Given the description of an element on the screen output the (x, y) to click on. 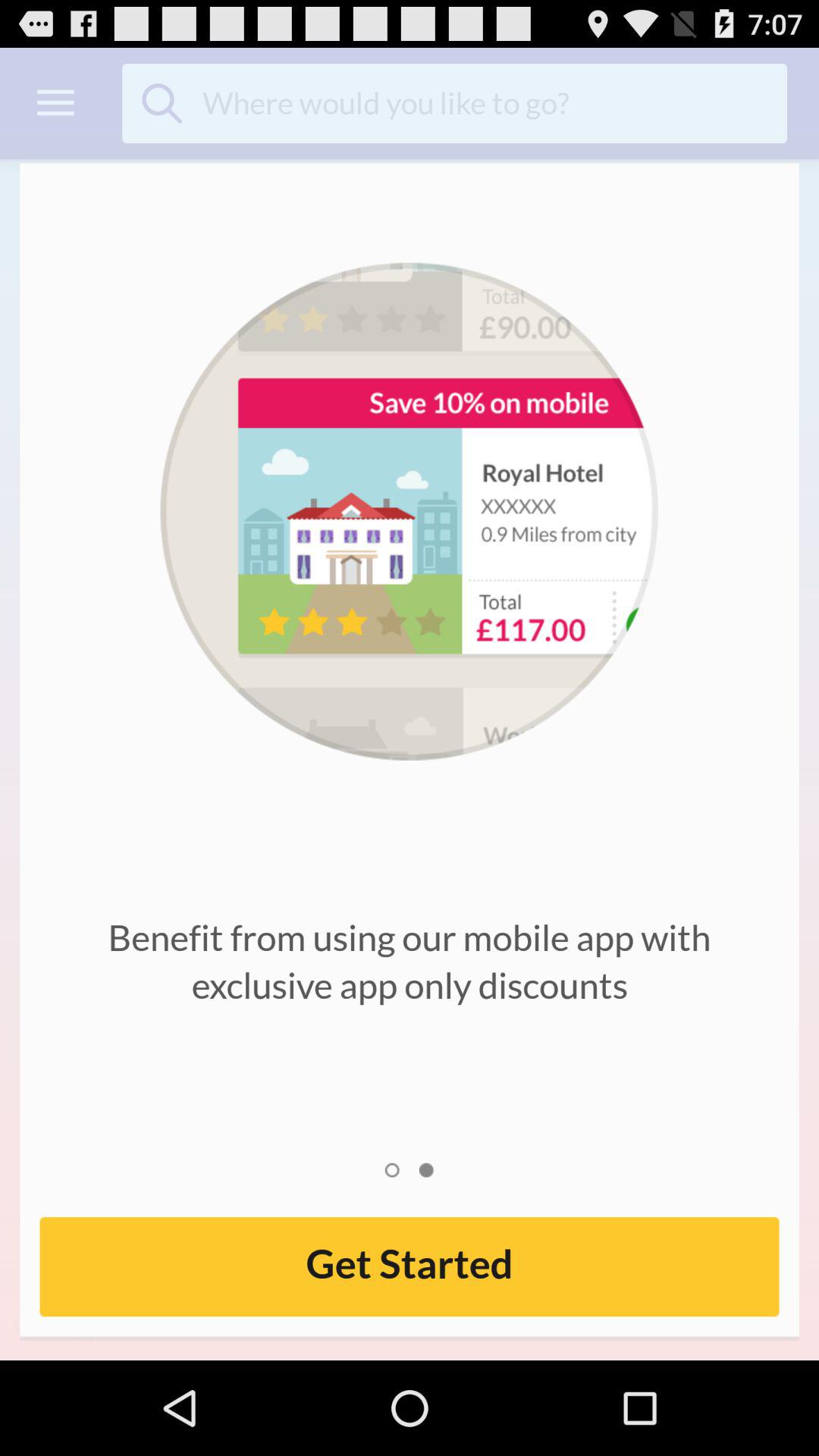
flip until get started (409, 1266)
